Given the description of an element on the screen output the (x, y) to click on. 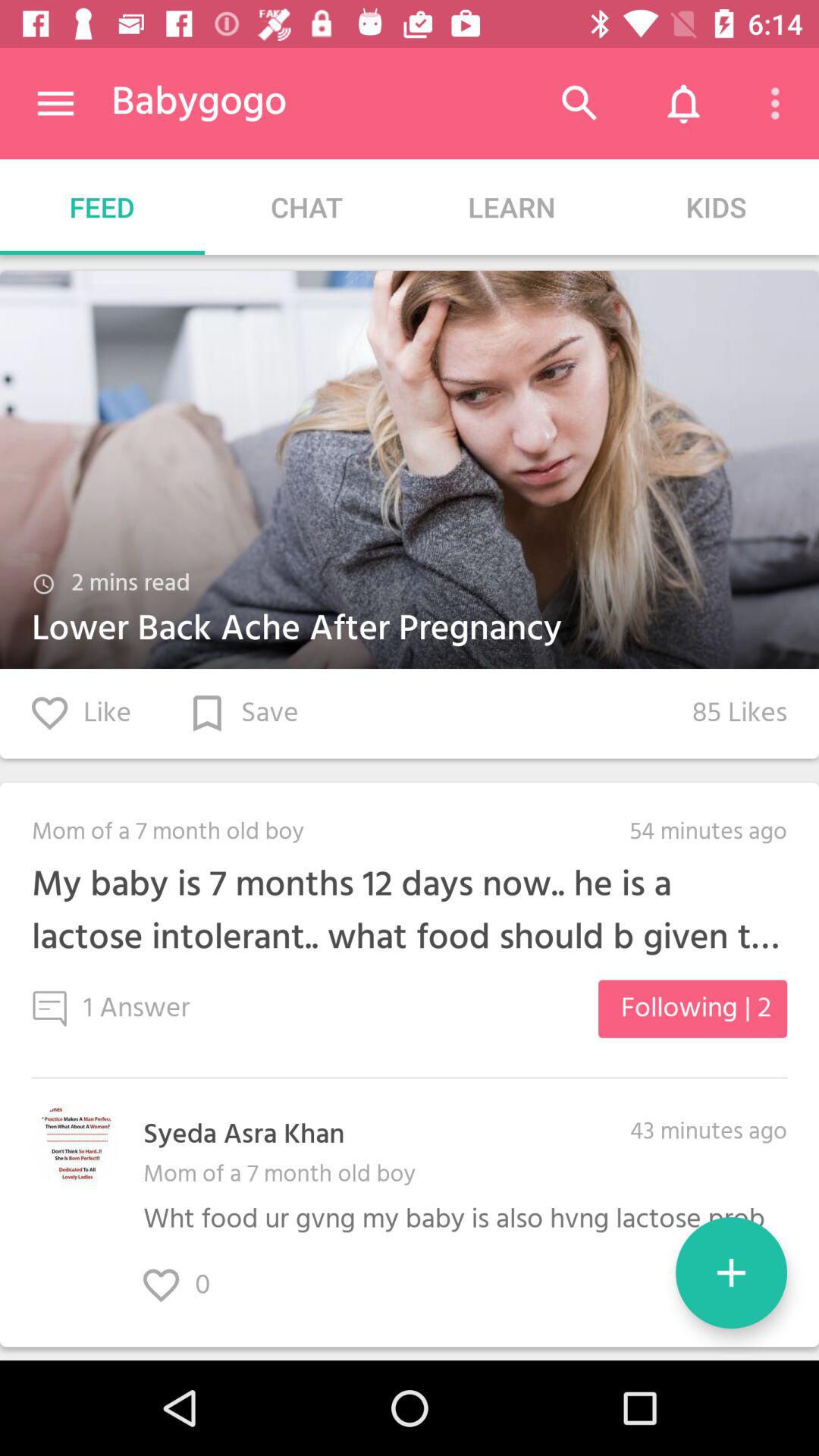
tap the item above the mom of a icon (243, 1135)
